Given the description of an element on the screen output the (x, y) to click on. 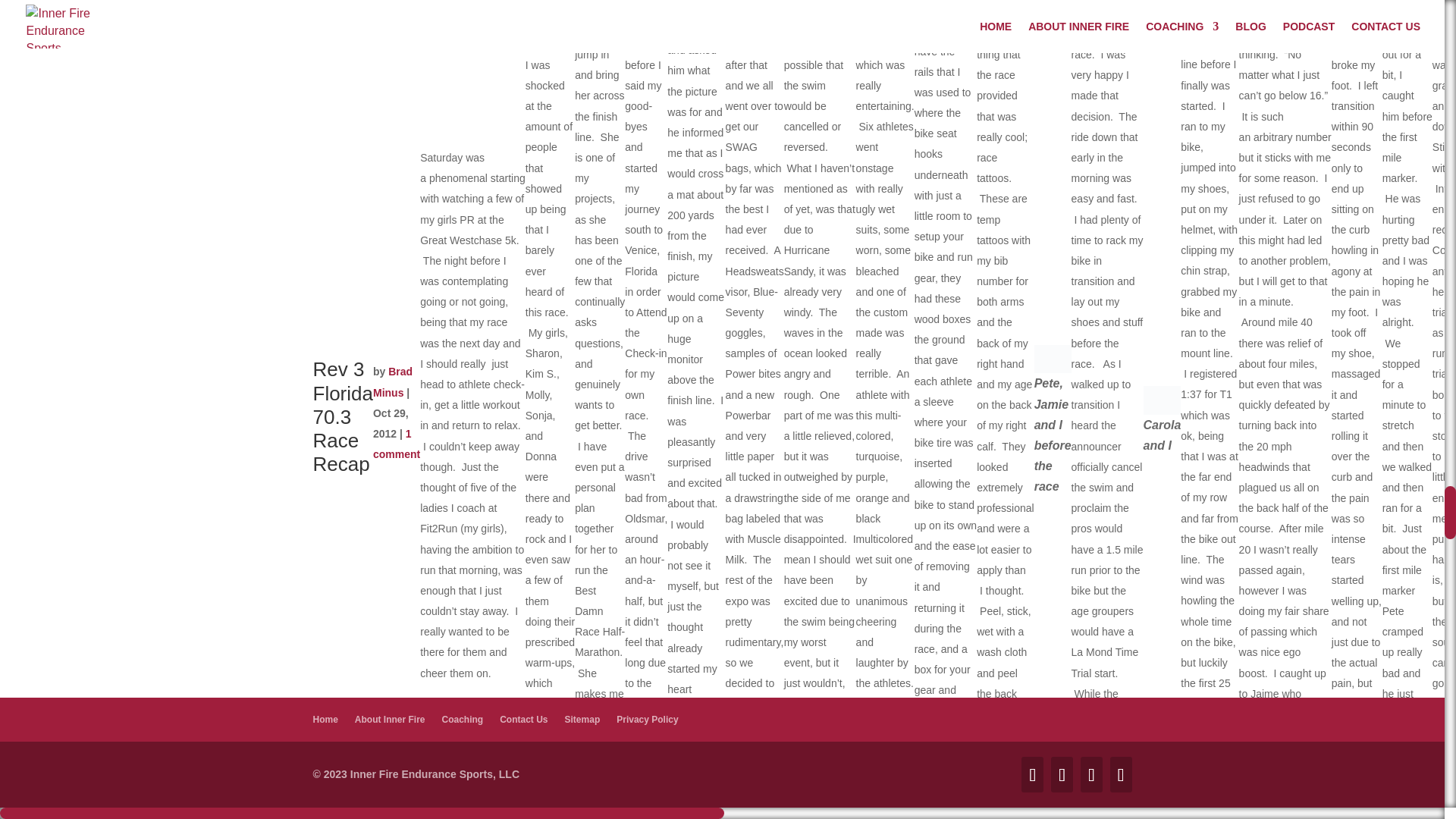
Posts by Brad Minus (392, 381)
